Given the description of an element on the screen output the (x, y) to click on. 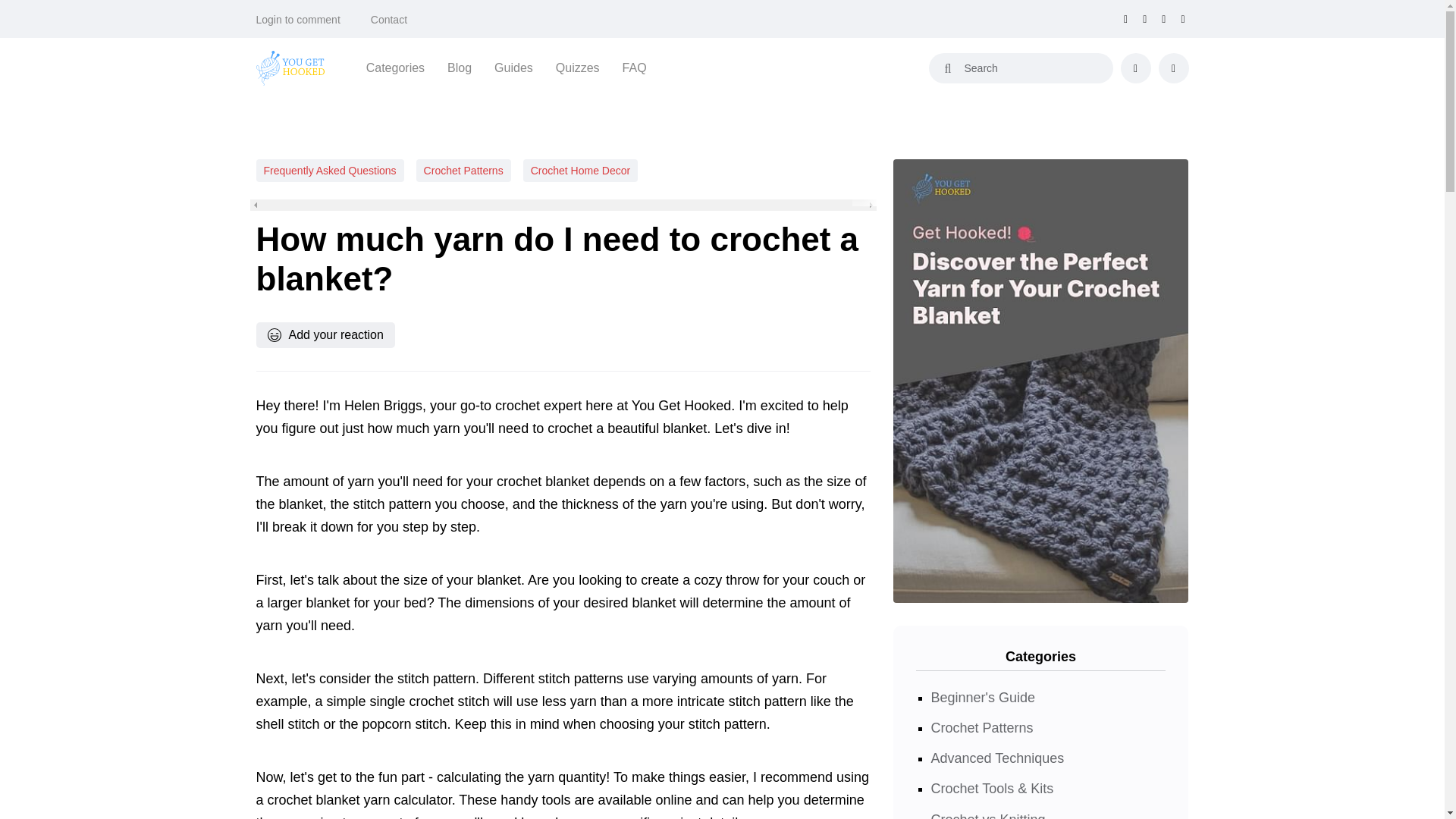
Categories (395, 67)
Contact (389, 19)
Login to comment (298, 19)
